Given the description of an element on the screen output the (x, y) to click on. 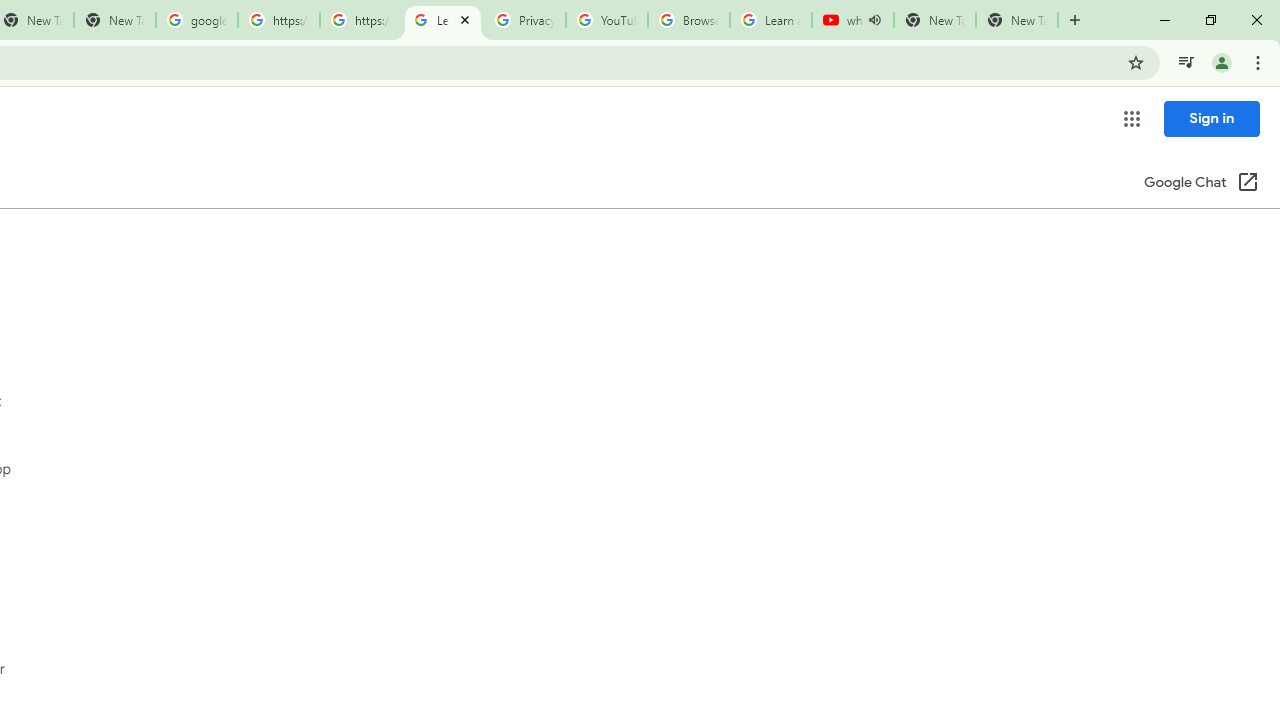
https://scholar.google.com/ (278, 20)
Browse Chrome as a guest - Computer - Google Chrome Help (688, 20)
New Tab (1016, 20)
YouTube (606, 20)
